Given the description of an element on the screen output the (x, y) to click on. 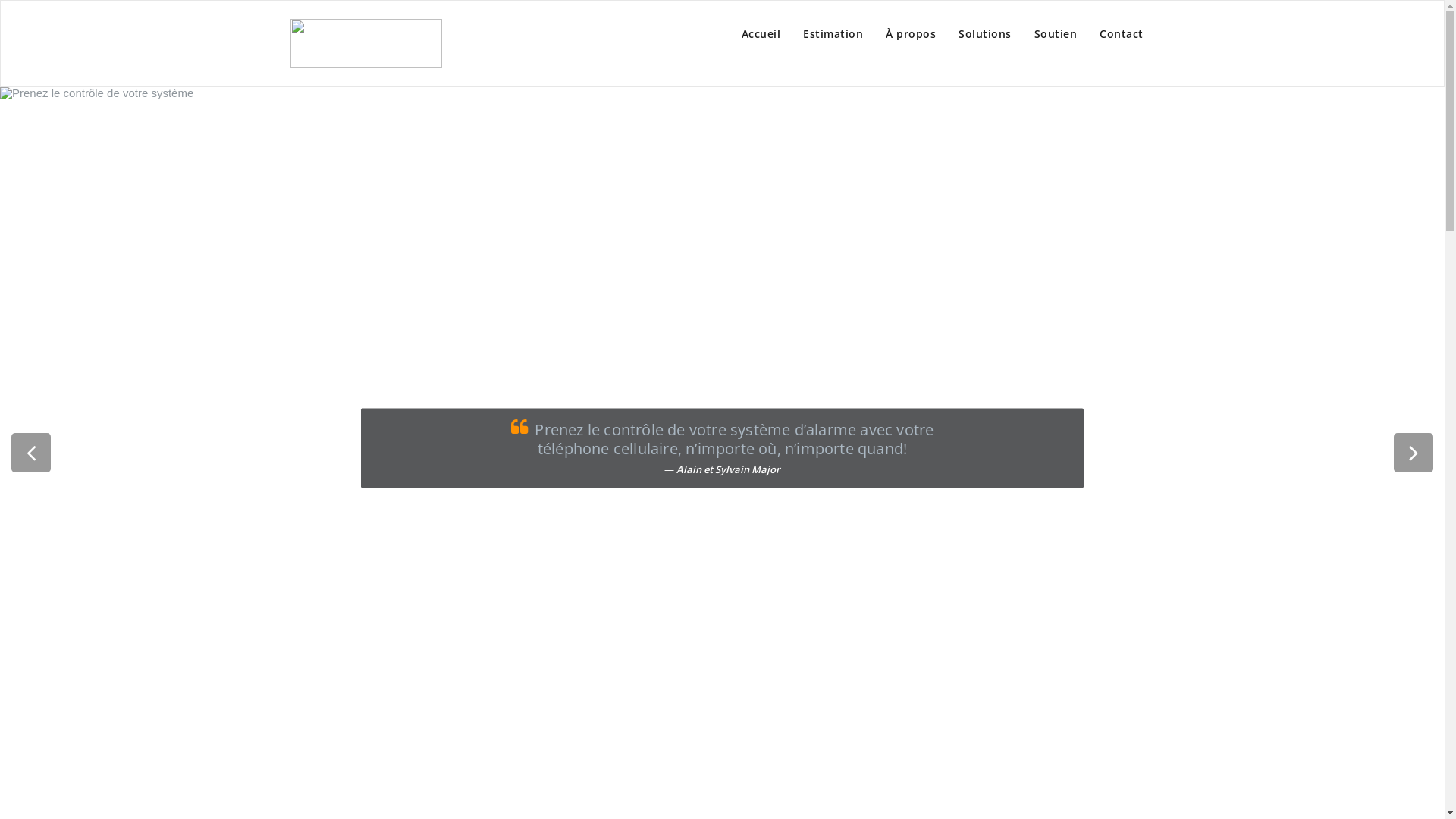
Contact Element type: text (1121, 33)
Accueil Element type: text (760, 33)
Soutien Element type: text (1055, 33)
Solutions Element type: text (984, 33)
Estimation Element type: text (832, 33)
